Given the description of an element on the screen output the (x, y) to click on. 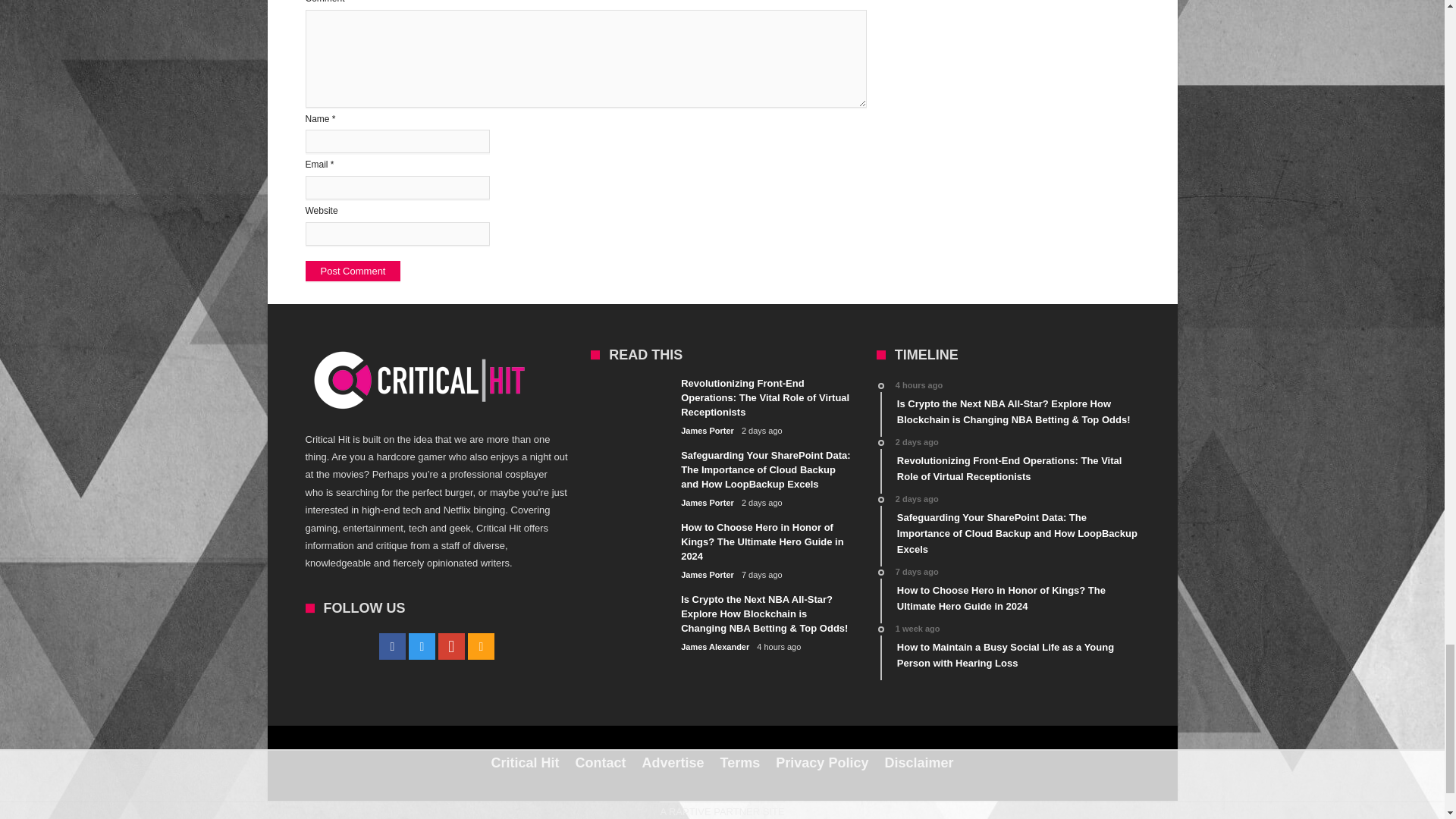
Post Comment (352, 271)
